Given the description of an element on the screen output the (x, y) to click on. 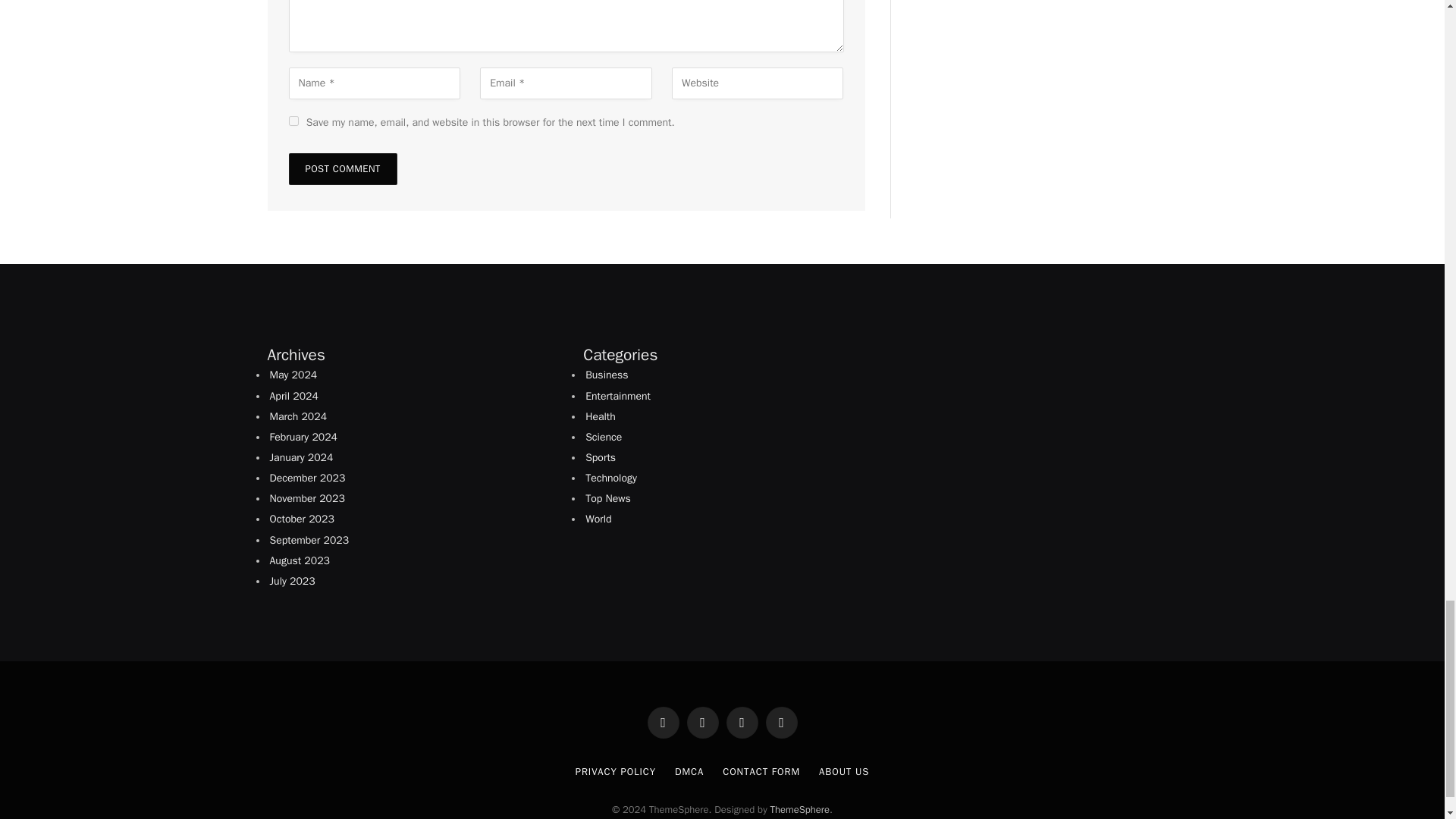
Post Comment (342, 169)
yes (293, 121)
